Given the description of an element on the screen output the (x, y) to click on. 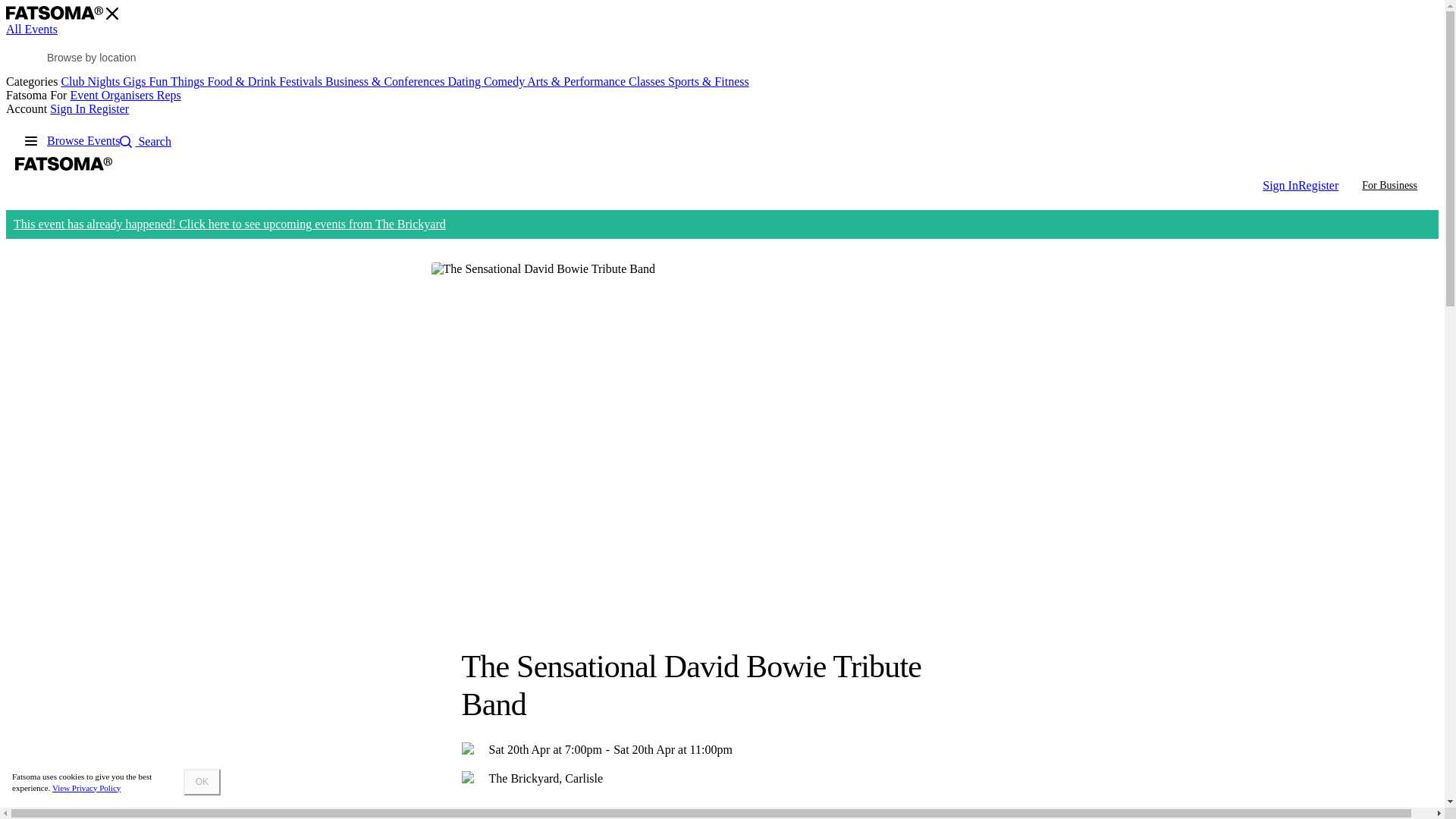
All Events (31, 29)
Sign In (68, 108)
Browse Events (82, 141)
Classes (648, 81)
OK (202, 782)
Fun Things (177, 81)
Reps (168, 94)
Comedy (505, 81)
Club Nights (91, 81)
Sign In (1280, 185)
